Given the description of an element on the screen output the (x, y) to click on. 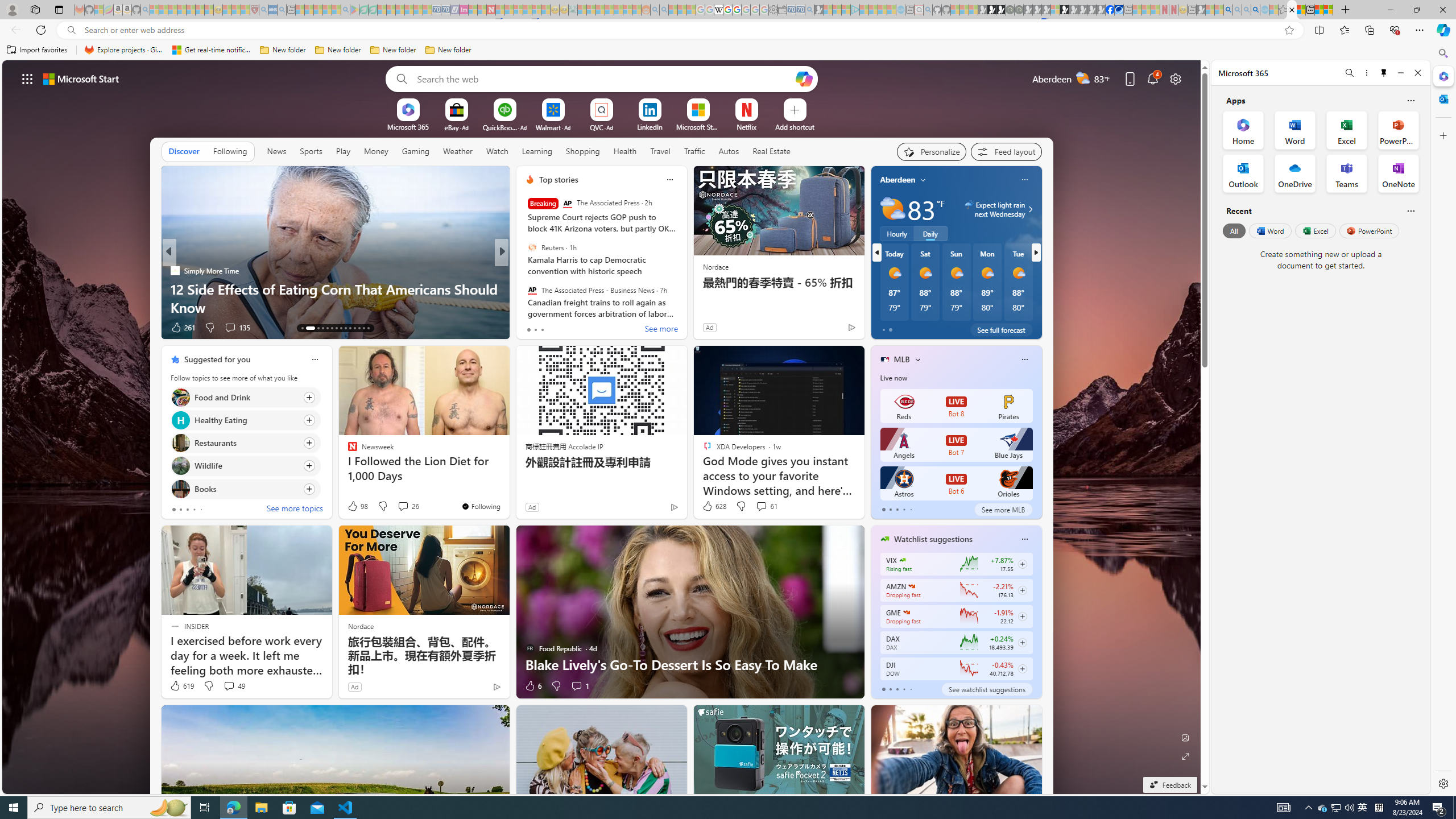
628 Like (713, 505)
The Associated Press (567, 203)
Money (375, 151)
The Weather Channel - MSN - Sleeping (172, 9)
Close Outlook pane (1442, 98)
Gaming (415, 151)
To get missing image descriptions, open the context menu. (407, 109)
Word (1269, 230)
Netflix (746, 126)
list of asthma inhalers uk - Search - Sleeping (263, 9)
Feed settings (1005, 151)
